Given the description of an element on the screen output the (x, y) to click on. 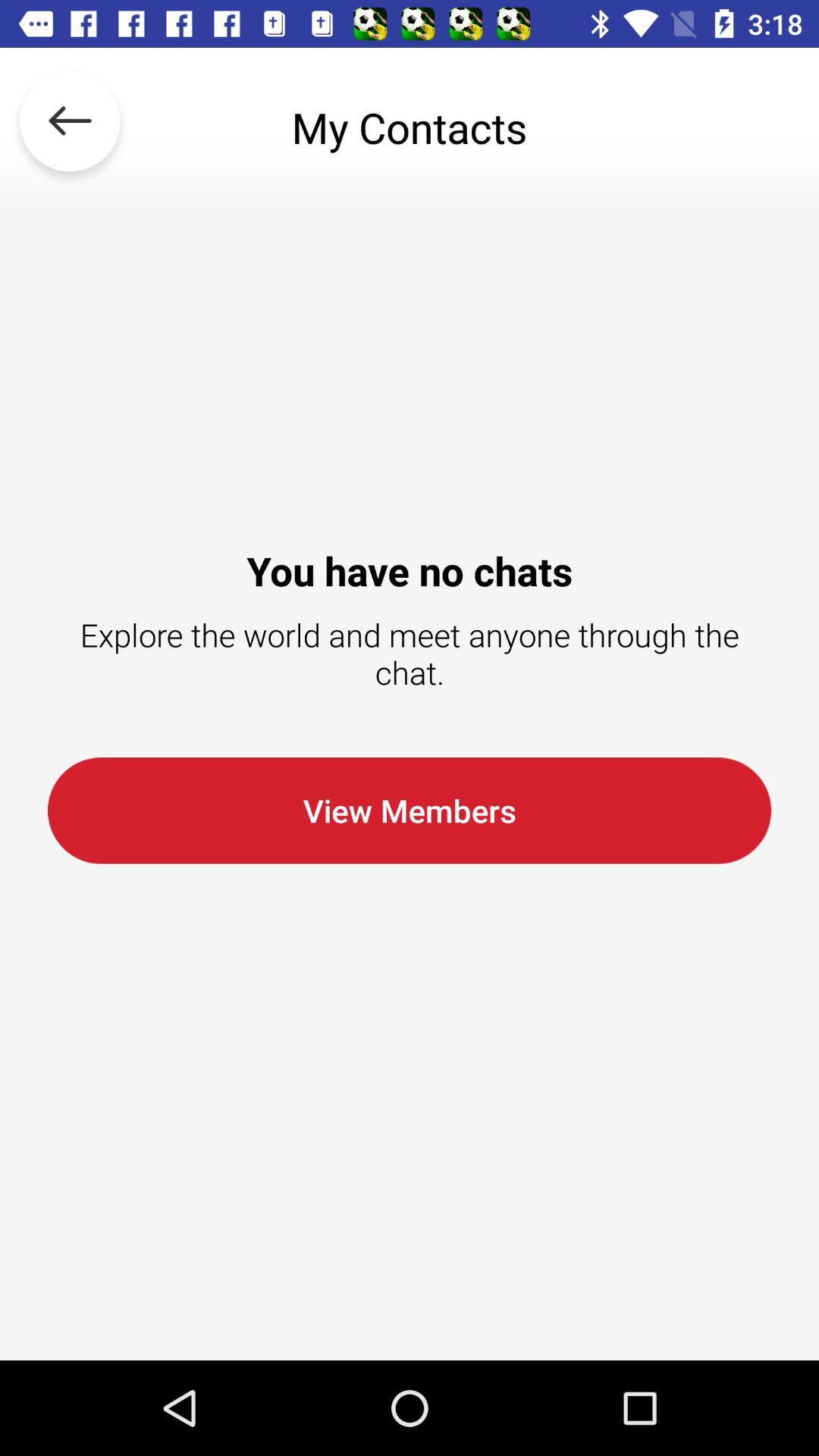
go back (69, 127)
